Given the description of an element on the screen output the (x, y) to click on. 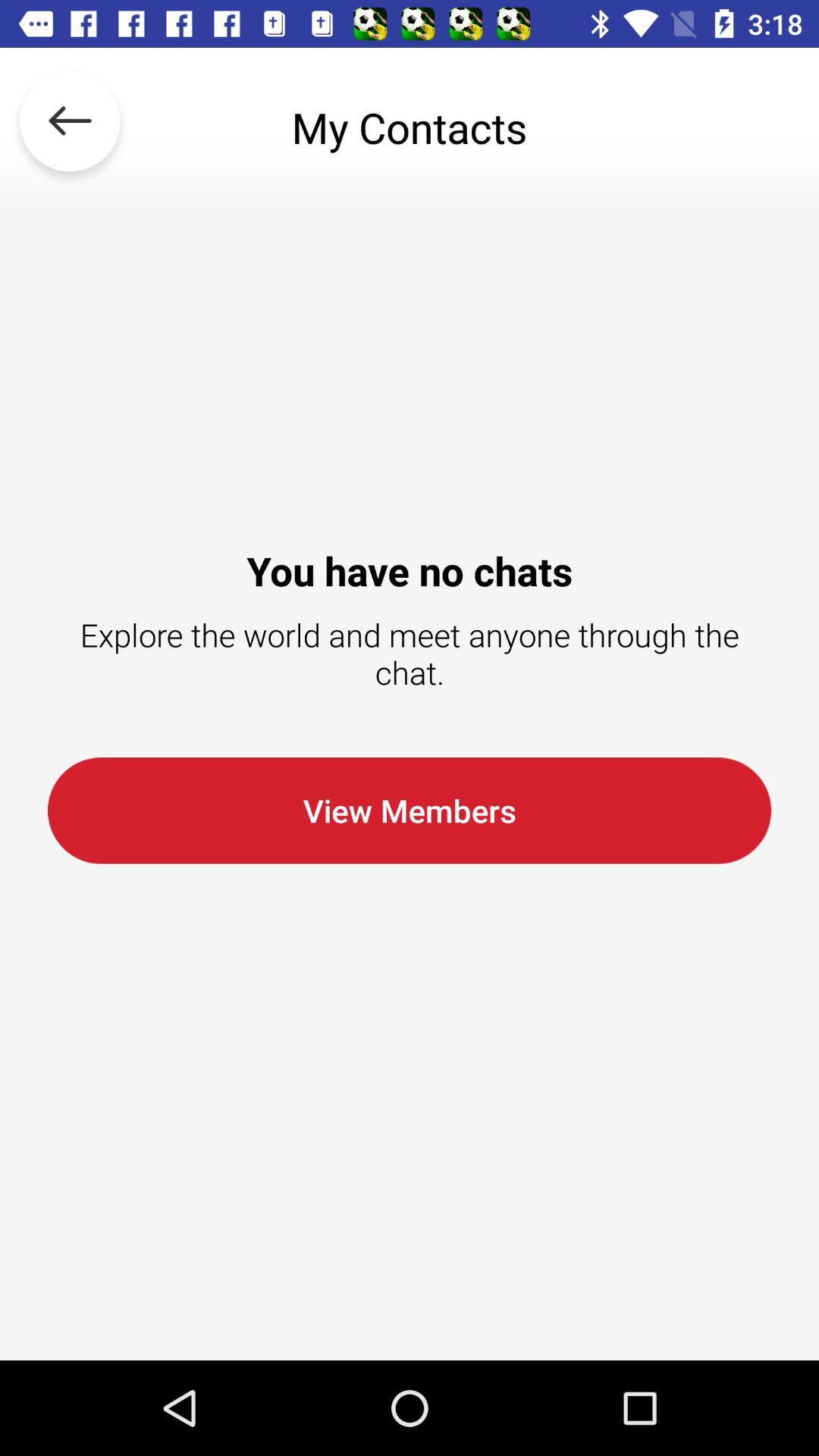
go back (69, 127)
